Given the description of an element on the screen output the (x, y) to click on. 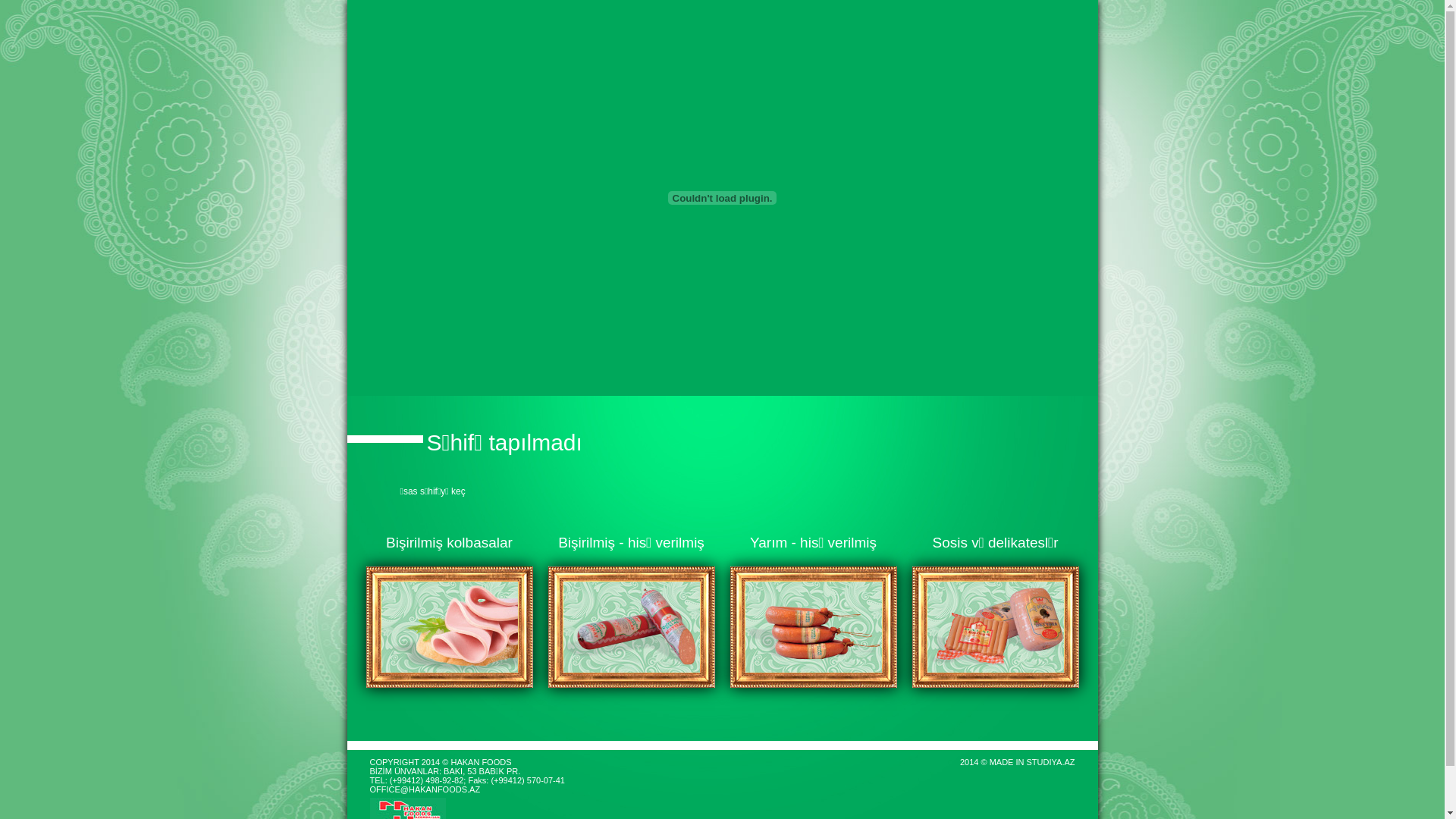
MADE IN STUDIYA.AZ Element type: text (1032, 761)
OFFICE@HAKANFOODS.AZ Element type: text (425, 788)
